Given the description of an element on the screen output the (x, y) to click on. 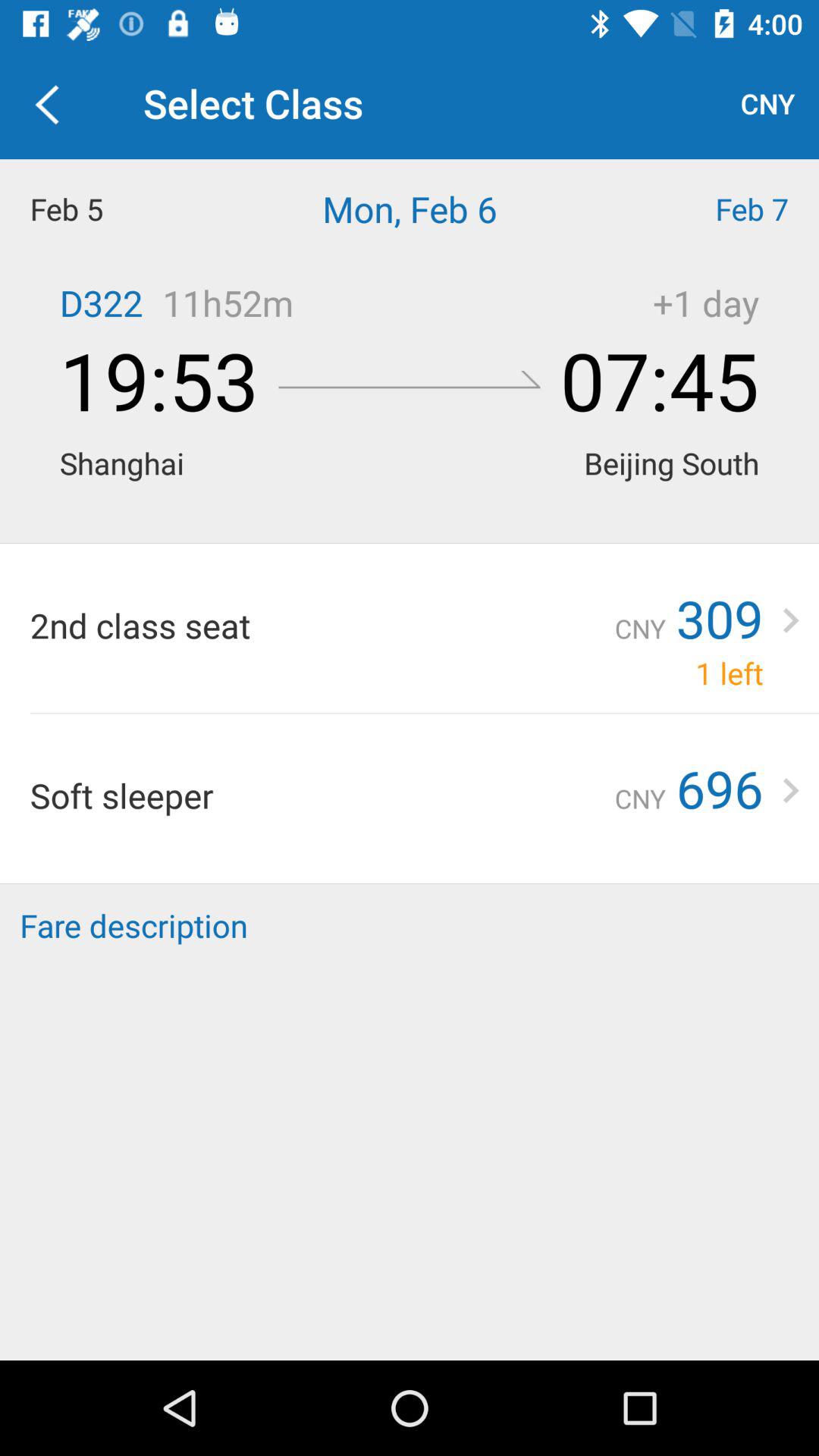
press item next to the select class (55, 103)
